Given the description of an element on the screen output the (x, y) to click on. 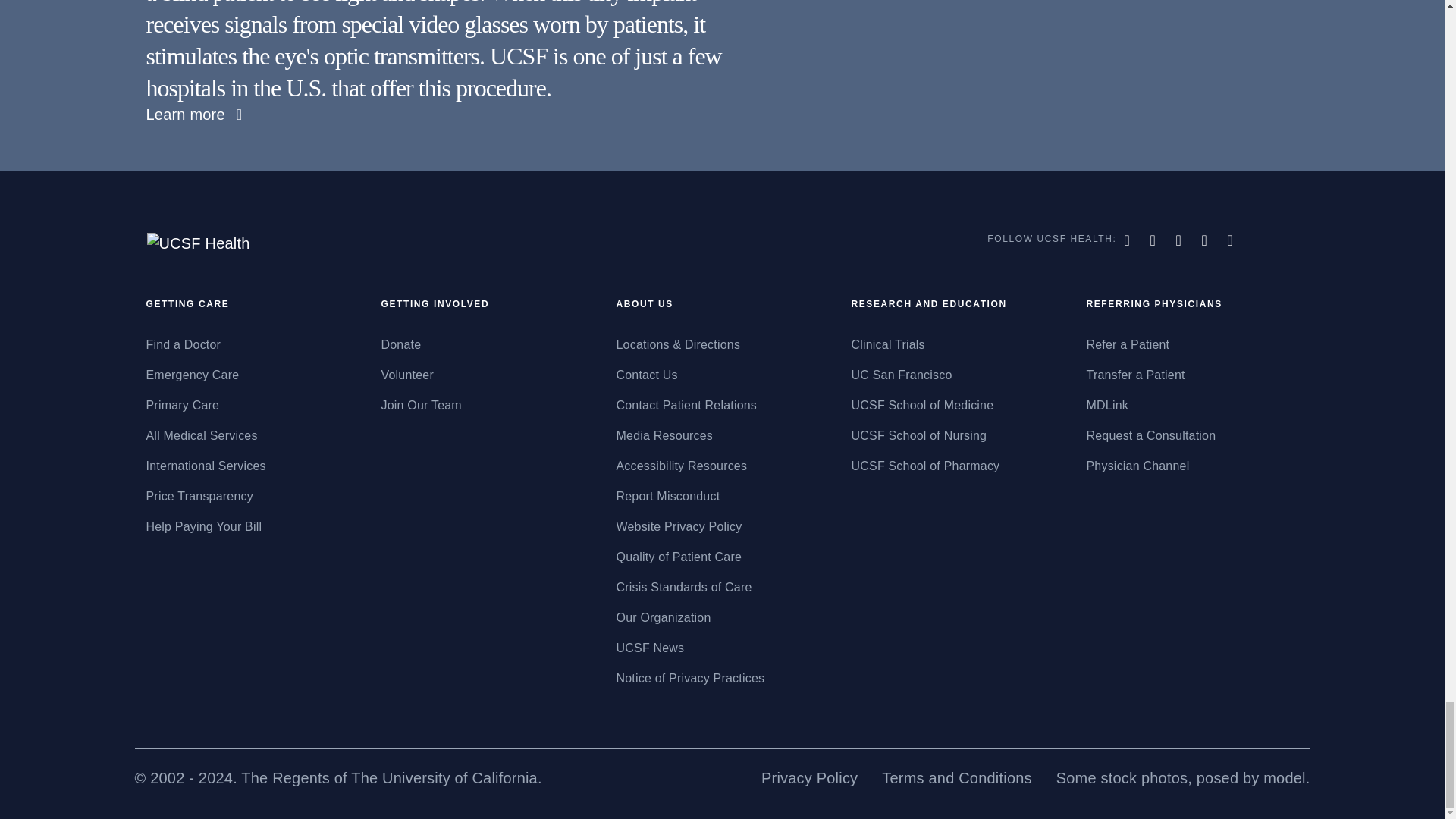
Donate (486, 344)
Linkedin (1232, 239)
Emergency Care (251, 375)
X (1154, 239)
Volunteer (486, 375)
Facebook (1128, 239)
Instagram (1206, 239)
Primary Care (251, 405)
